Given the description of an element on the screen output the (x, y) to click on. 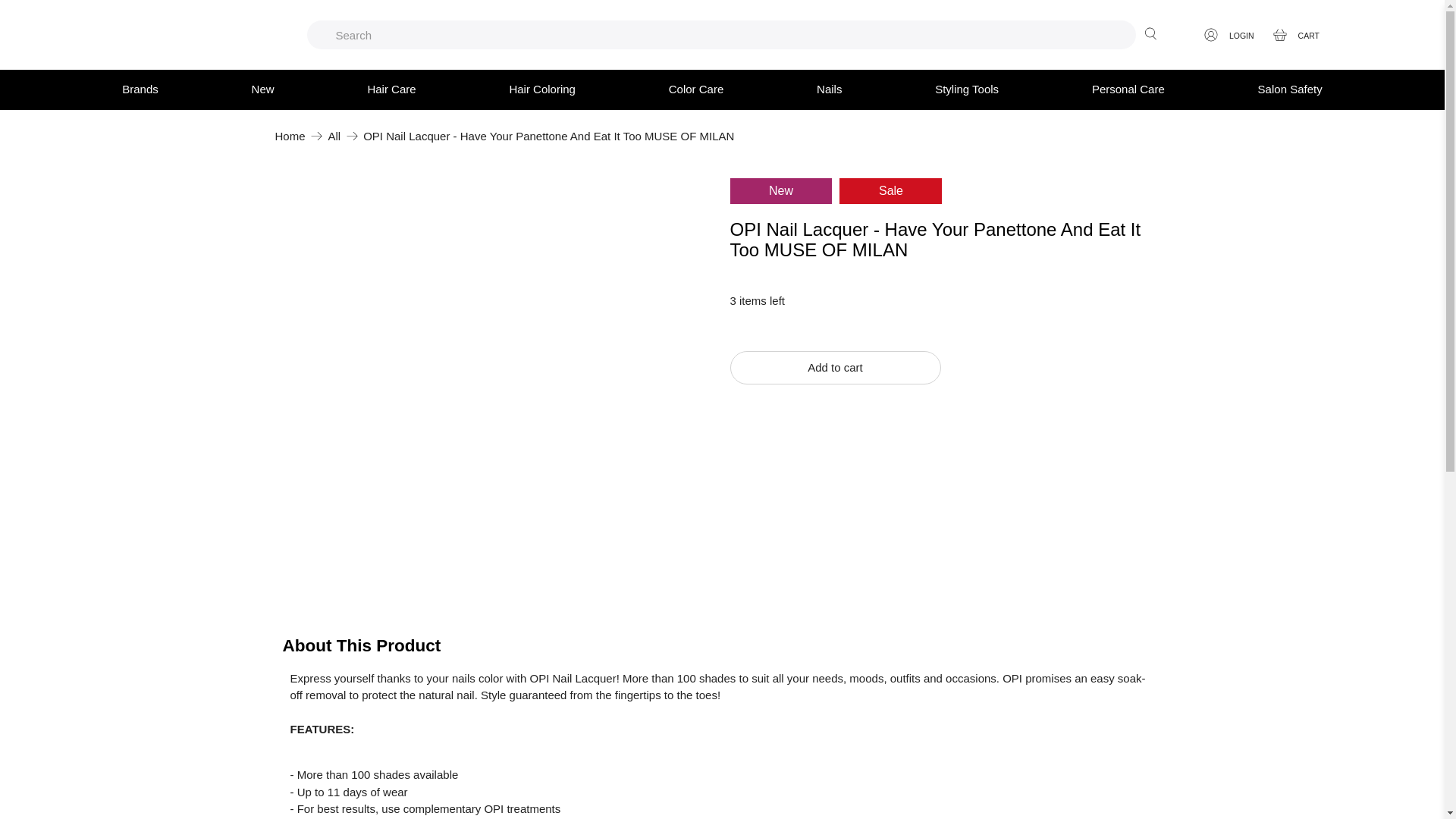
Hair Care (391, 89)
LOGIN (1234, 35)
CART (1301, 34)
Salon Safety (1289, 89)
Nails (829, 89)
New (262, 89)
Personal Care (1128, 89)
Salon Shack (289, 135)
Styling Tools (966, 89)
Brands (140, 89)
